Given the description of an element on the screen output the (x, y) to click on. 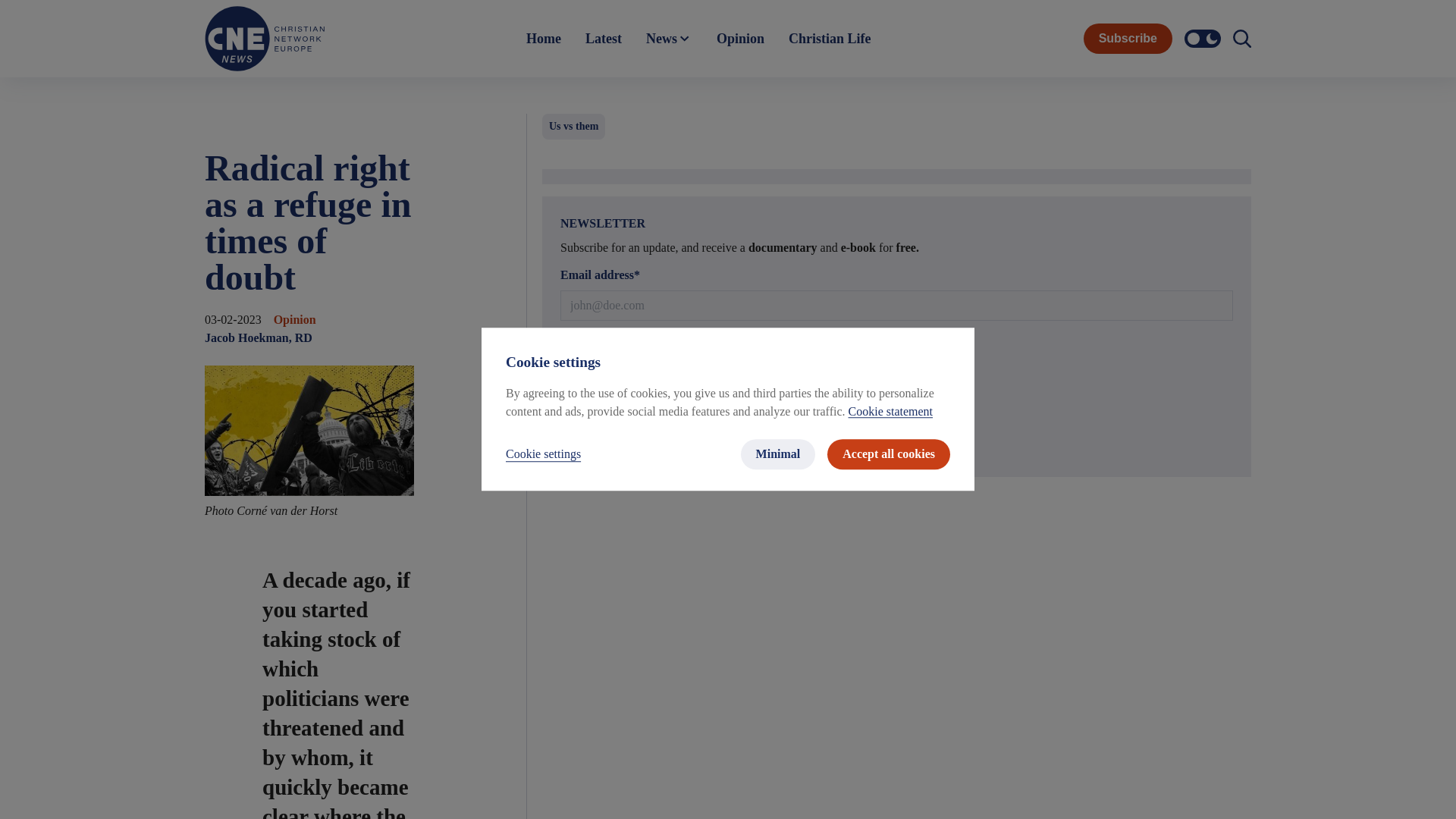
News (668, 38)
Us vs them (573, 126)
Subscribe (1127, 38)
Minimal (778, 454)
on (569, 362)
Christian Life (829, 38)
Accept all cookies (888, 454)
Opinion (740, 38)
Subscribe (896, 443)
Cookie statement (890, 411)
Cookie settings (542, 454)
Latest (603, 38)
on (569, 385)
Home (543, 38)
Wissel donkere - lichte modus (1203, 38)
